Given the description of an element on the screen output the (x, y) to click on. 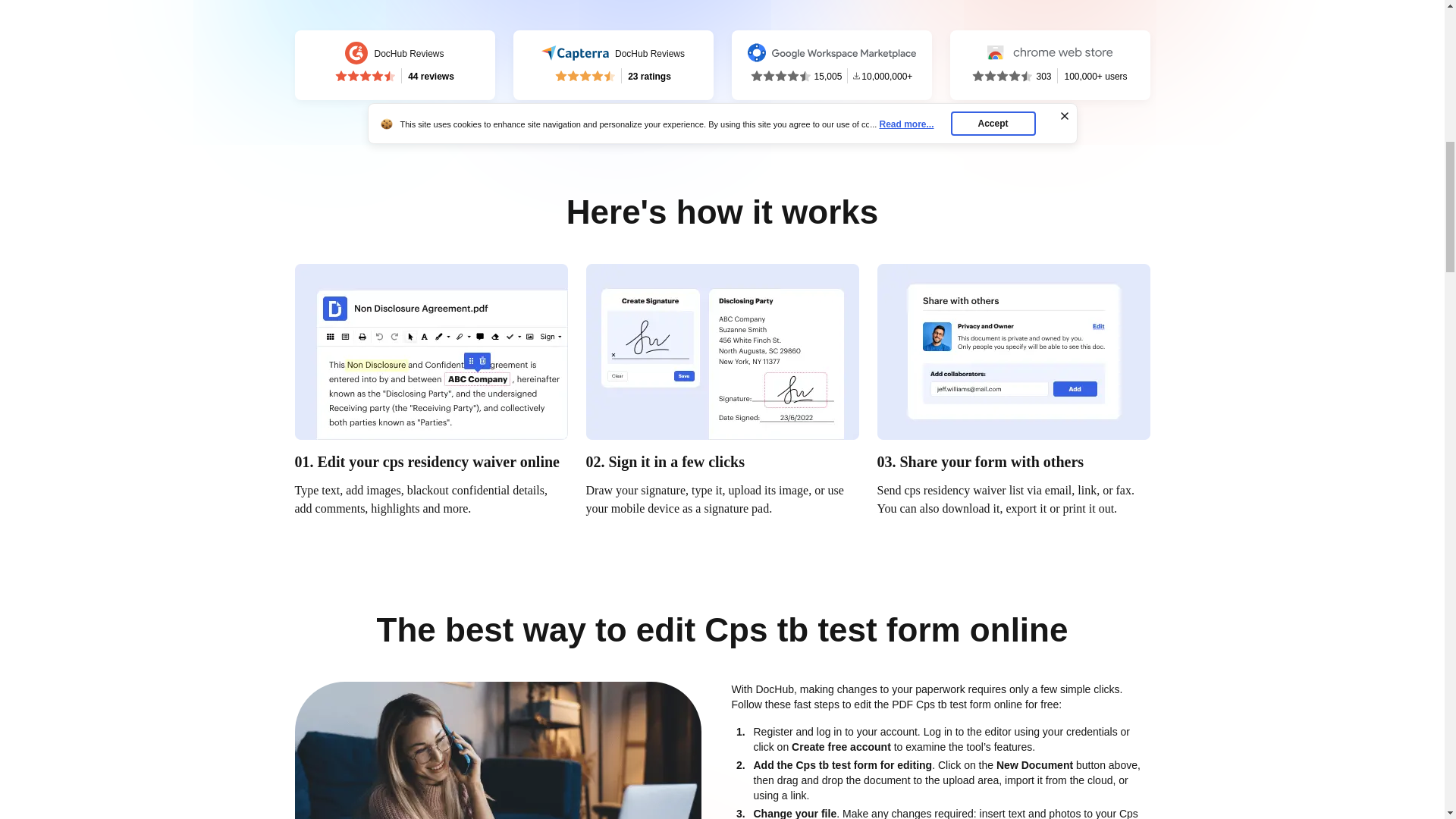
Start now (612, 64)
